Given the description of an element on the screen output the (x, y) to click on. 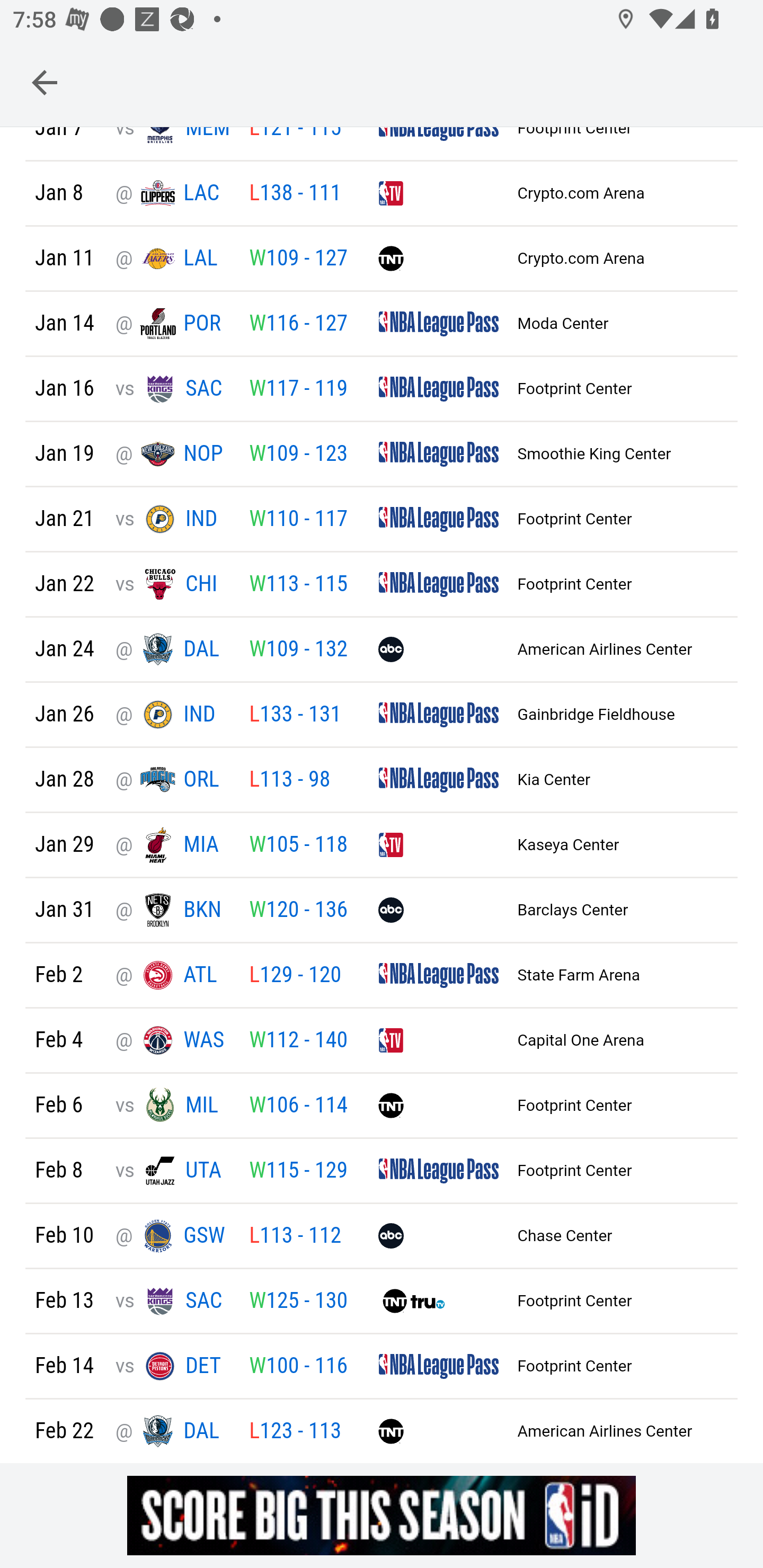
Navigate up (44, 82)
@ LAC Logo LAC @ LAC Logo LAC (172, 194)
L138 - 111 L 138 - 111 (294, 194)
@ LAL Logo LAL @ LAL Logo LAL (172, 259)
W109 - 127 W 109 - 127 (297, 259)
@ POR Logo POR @ POR Logo POR (172, 324)
W116 - 127 W 116 - 127 (297, 325)
vs SAC Logo SAC vs SAC Logo SAC (172, 389)
W117 - 119 W 117 - 119 (297, 389)
@ NOP Logo NOP @ NOP Logo NOP (172, 455)
W109 - 123 W 109 - 123 (297, 455)
vs IND Logo IND vs IND Logo IND (172, 520)
W110 - 117 W 110 - 117 (297, 520)
vs CHI Logo CHI vs CHI Logo CHI (172, 585)
W113 - 115 W 113 - 115 (297, 585)
@ DAL Logo DAL @ DAL Logo DAL (172, 650)
W109 - 132 W 109 - 132 (297, 650)
@ IND Logo IND @ IND Logo IND (172, 715)
L133 - 131 L 133 - 131 (294, 715)
@ ORL Logo ORL @ ORL Logo ORL (172, 780)
L113 - 98 L 113 - 98 (288, 781)
@ MIA Logo MIA @ MIA Logo MIA (172, 845)
W105 - 118 W 105 - 118 (297, 845)
@ BKN Logo BKN @ BKN Logo BKN (172, 911)
W120 - 136 W 120 - 136 (297, 911)
@ ATL Logo ATL @ ATL Logo ATL (172, 975)
L129 - 120 L 129 - 120 (294, 975)
@ WAS Logo WAS @ WAS Logo WAS (172, 1041)
W112 - 140 W 112 - 140 (297, 1041)
vs MIL Logo MIL vs MIL Logo MIL (172, 1106)
W106 - 114 W 106 - 114 (297, 1106)
vs UTA Logo UTA vs UTA Logo UTA (172, 1171)
W115 - 129 W 115 - 129 (297, 1171)
@ GSW Logo GSW @ GSW Logo GSW (172, 1236)
L113 - 112 L 113 - 112 (294, 1237)
vs SAC Logo SAC vs SAC Logo SAC (172, 1301)
W125 - 130 W 125 - 130 (297, 1301)
vs DET Logo DET vs DET Logo DET (172, 1366)
W100 - 116 W 100 - 116 (297, 1367)
@ DAL Logo DAL @ DAL Logo DAL (172, 1431)
L123 - 113 L 123 - 113 (294, 1432)
g5nqqygr7owph (381, 1515)
